Given the description of an element on the screen output the (x, y) to click on. 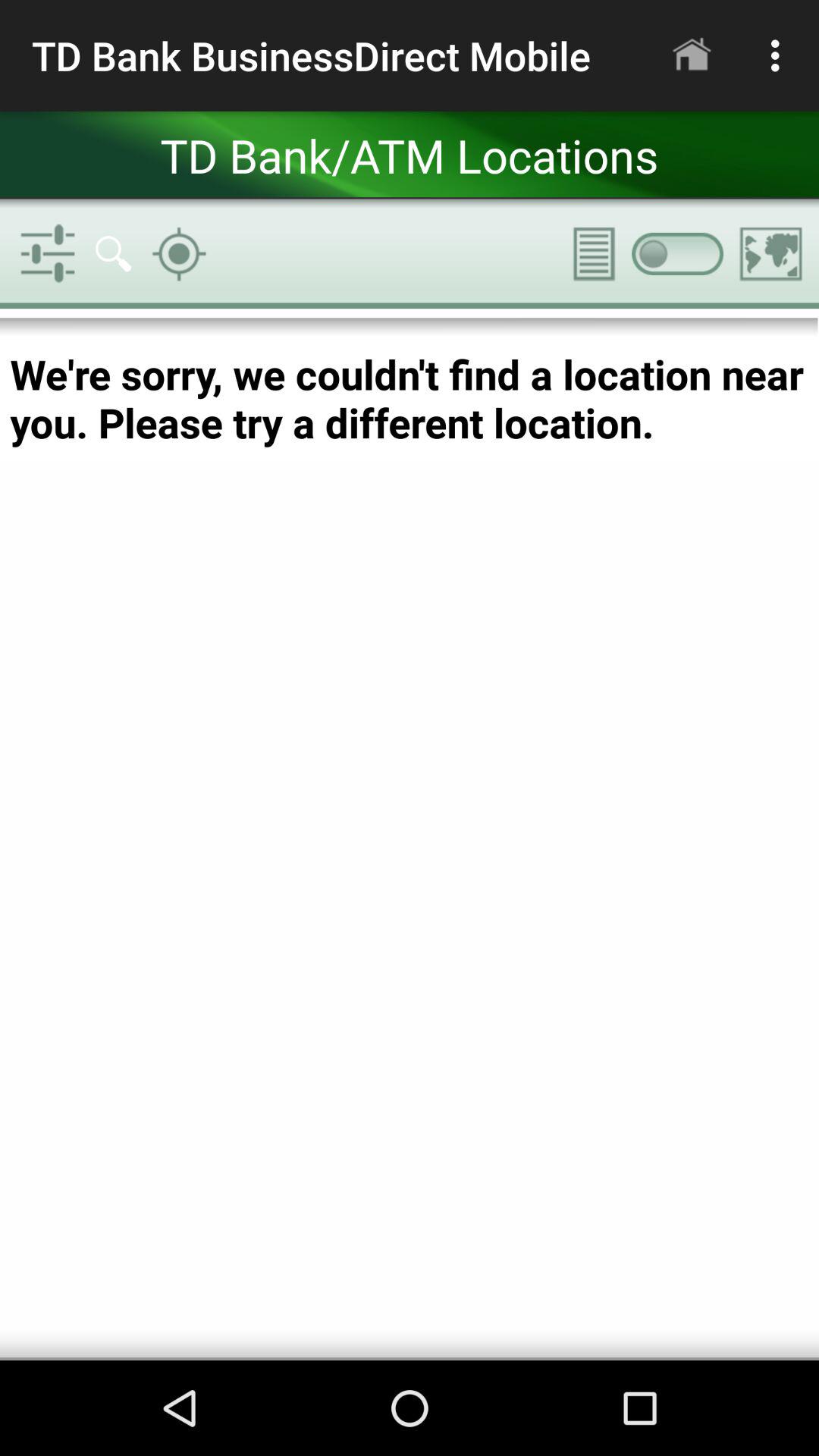
choose app to the right of td bank businessdirect item (691, 55)
